Given the description of an element on the screen output the (x, y) to click on. 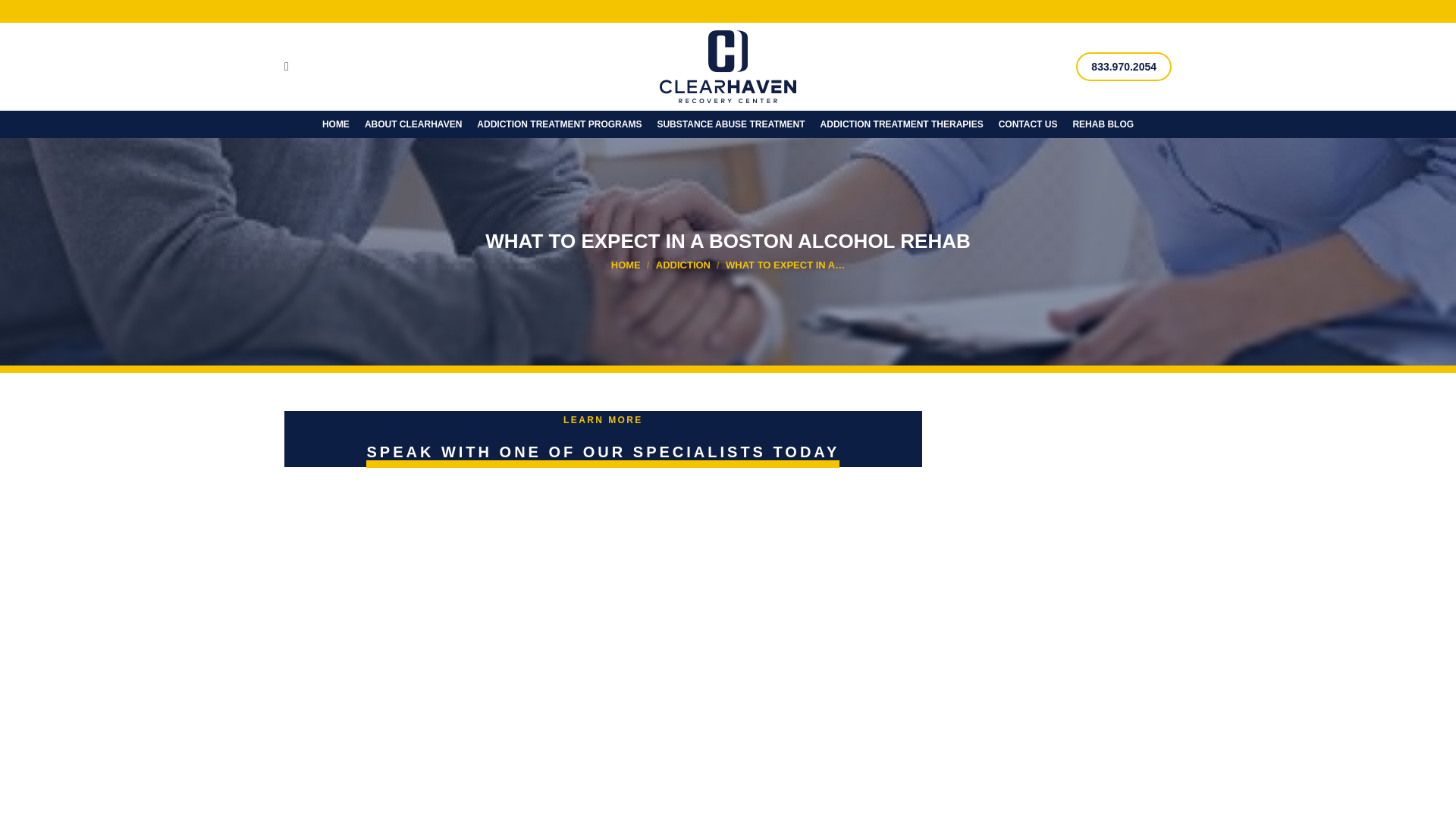
ABOUT CLEARHAVEN (413, 124)
Go! (24, 17)
HOME (335, 124)
ADDICTION TREATMENT THERAPIES (902, 124)
Addiction (683, 265)
833.970.2054 (1123, 66)
SUBSTANCE ABUSE TREATMENT (730, 124)
REHAB BLOG (1102, 124)
CONTACT US (1028, 124)
Home (625, 265)
